Given the description of an element on the screen output the (x, y) to click on. 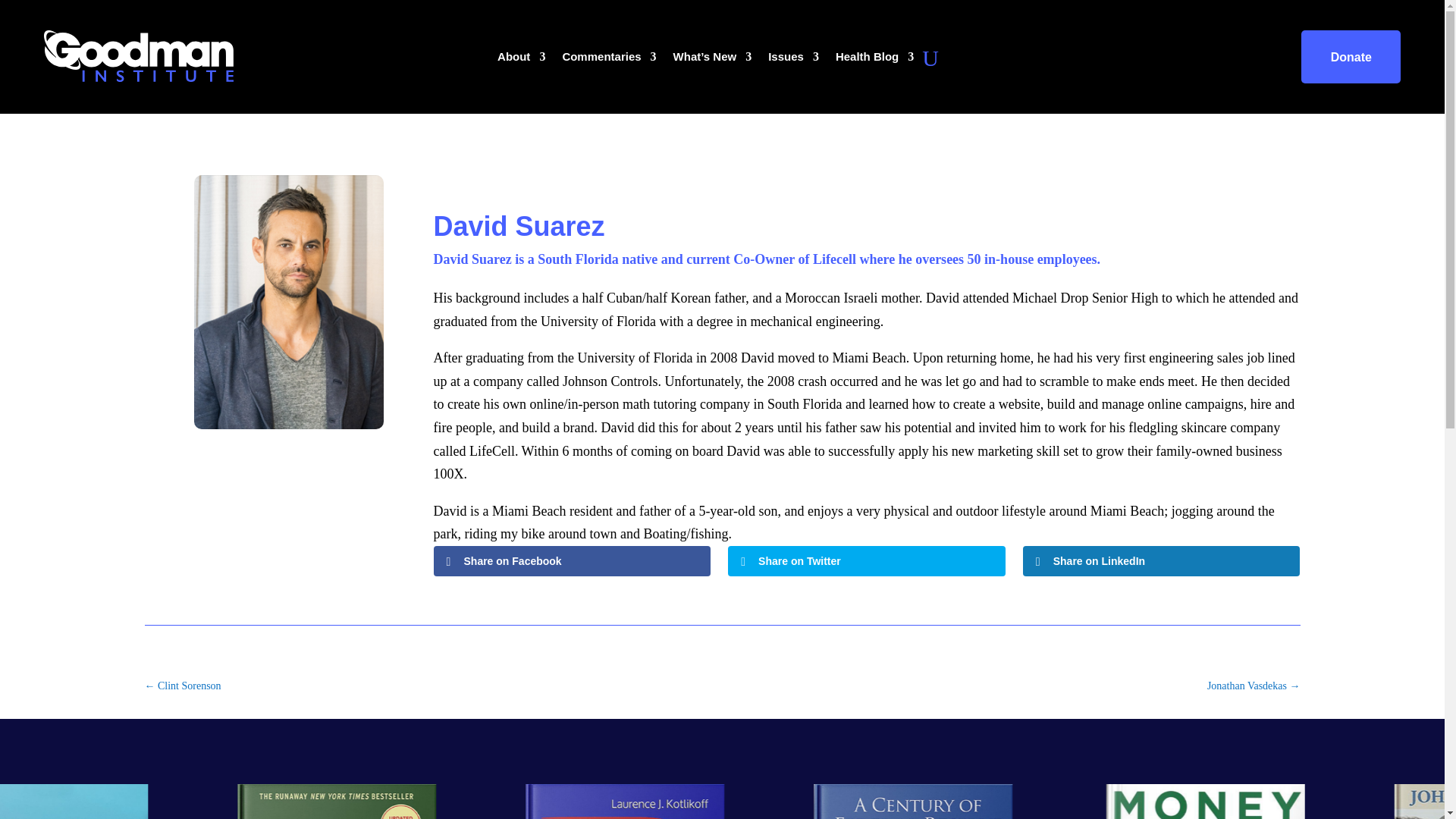
Issues (793, 61)
Write Me In But Don't Send Me a Penny (798, 801)
Get What's Yours (512, 801)
About (520, 61)
Commentaries (609, 61)
A Century of Federal Reserve Monetary Policy (1083, 801)
GoodmanInstitute-Logo (137, 55)
New Way to Care Social Protections that Put Families First (22, 801)
Live Free and Prosper (229, 801)
